Given the description of an element on the screen output the (x, y) to click on. 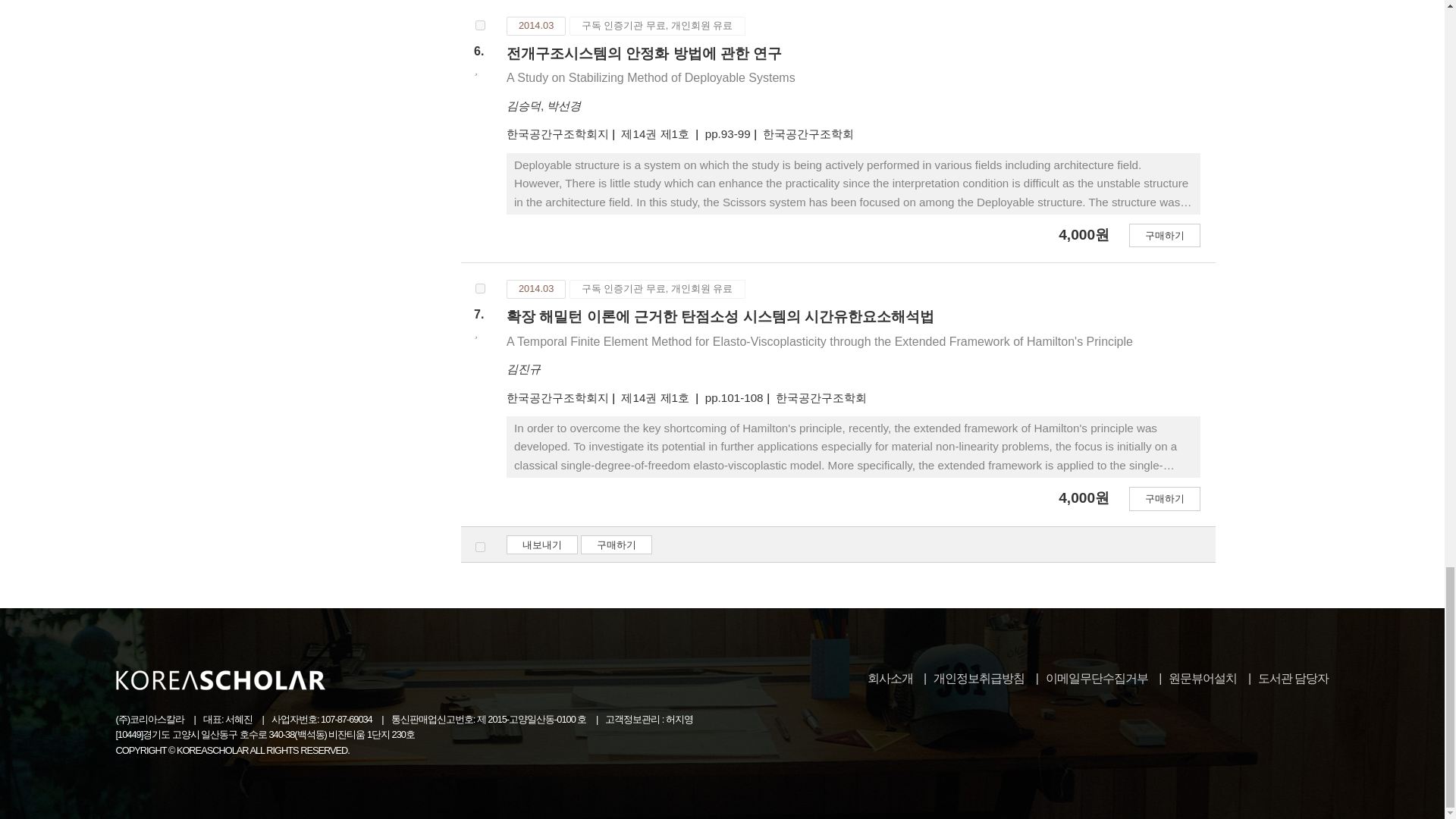
on (480, 547)
281657 (480, 25)
281658 (480, 288)
